Given the description of an element on the screen output the (x, y) to click on. 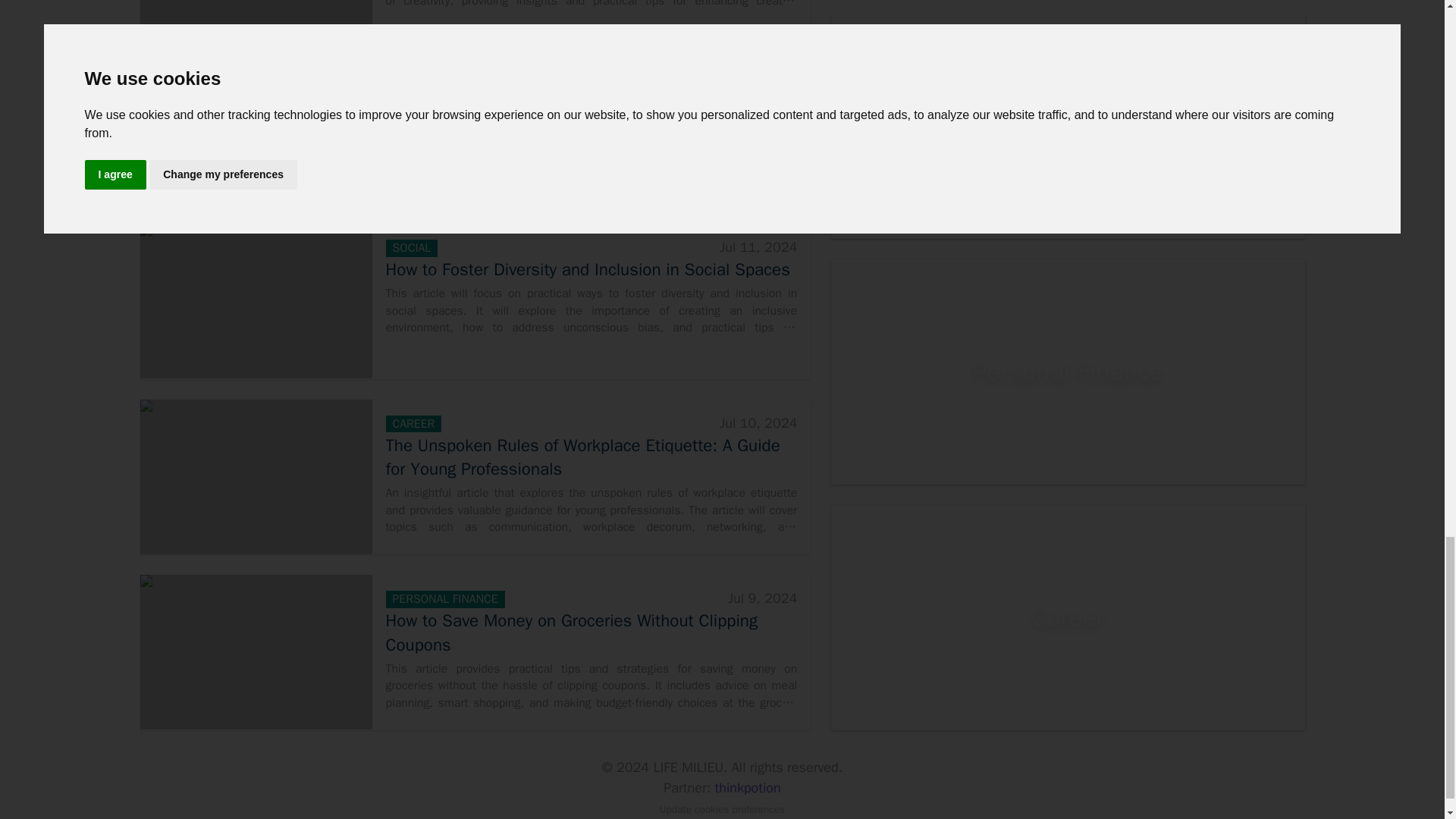
Career (1067, 617)
Update cookies preferences (721, 809)
Creativity (1067, 126)
thinkpotion (747, 787)
Personal Finance (1067, 371)
